Given the description of an element on the screen output the (x, y) to click on. 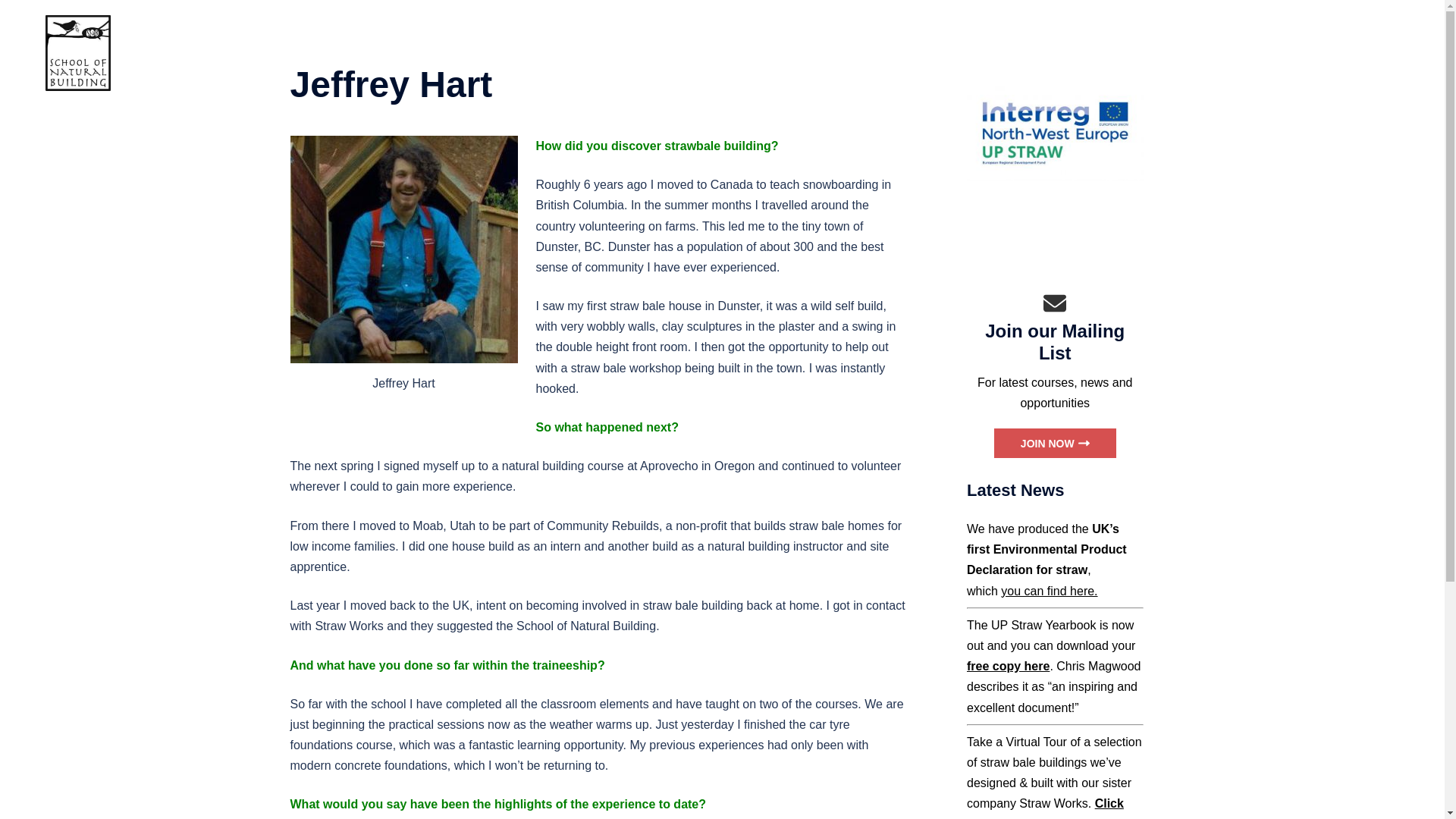
Membership (1118, 53)
School of Natural Building (77, 51)
Home (779, 53)
Our Courses (909, 53)
University Residentials (1014, 53)
UP Straw (1191, 53)
About Us (836, 53)
